Given the description of an element on the screen output the (x, y) to click on. 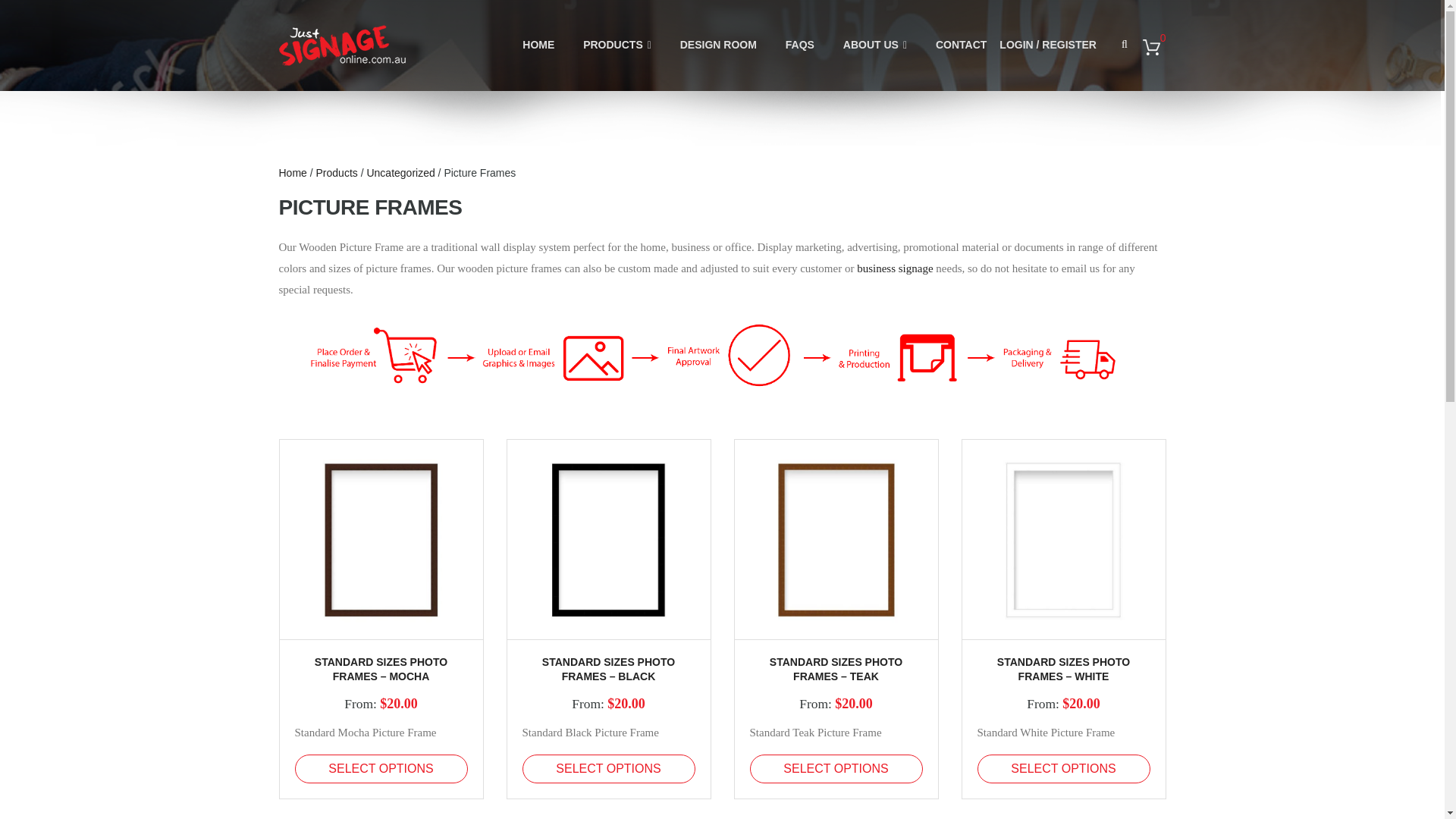
Go to Products. (336, 173)
Go to the Uncategorized Category archives. (399, 173)
Go to Just Signage Online. (293, 173)
member login (1047, 56)
View your shopping cart (1154, 47)
